Given the description of an element on the screen output the (x, y) to click on. 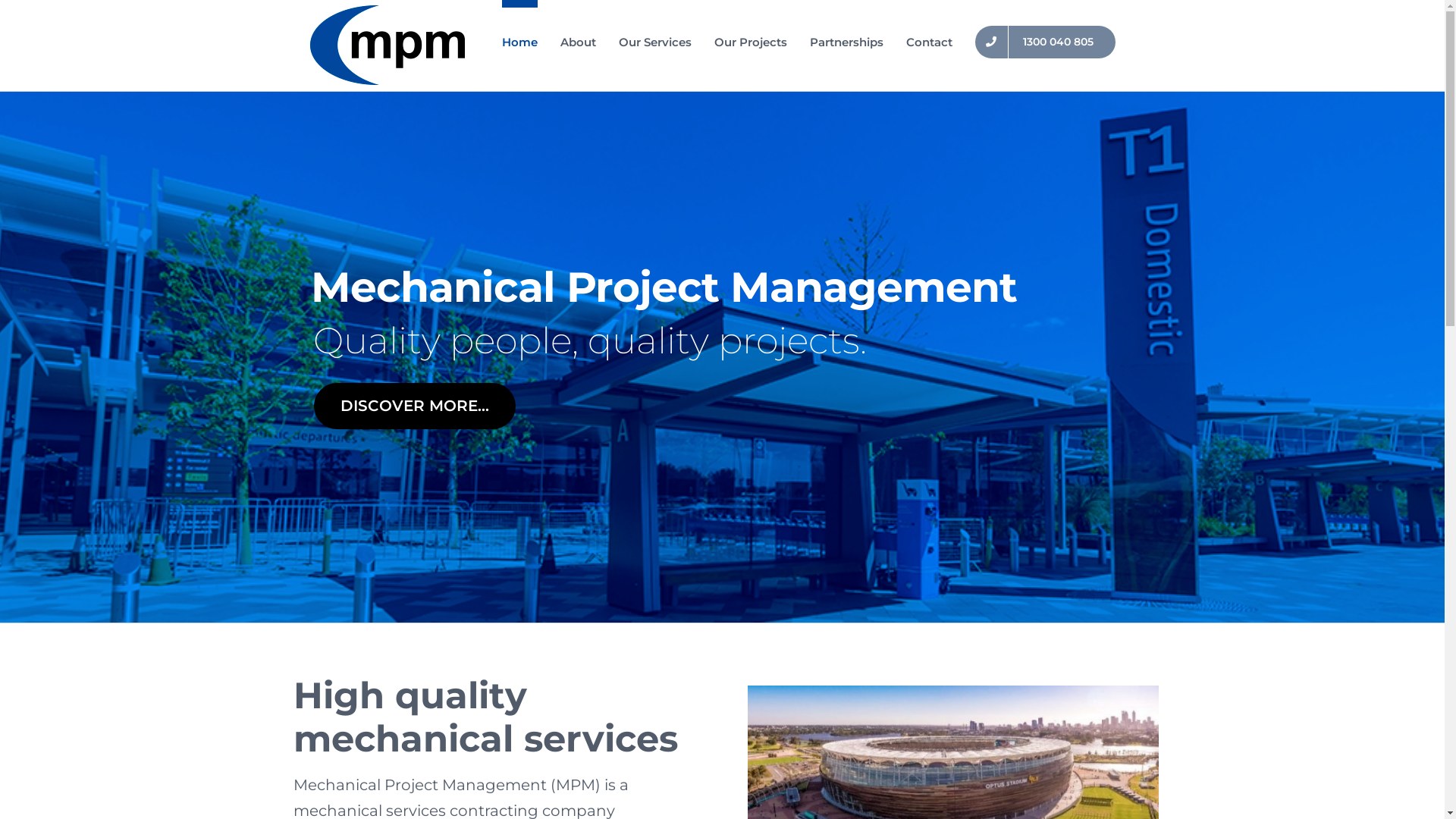
Partnerships Element type: text (846, 37)
About Element type: text (578, 37)
Contact Element type: text (929, 37)
Home Element type: text (519, 37)
Our Projects Element type: text (750, 37)
1300 040 805 Element type: text (1045, 37)
Our Services Element type: text (654, 37)
